Given the description of an element on the screen output the (x, y) to click on. 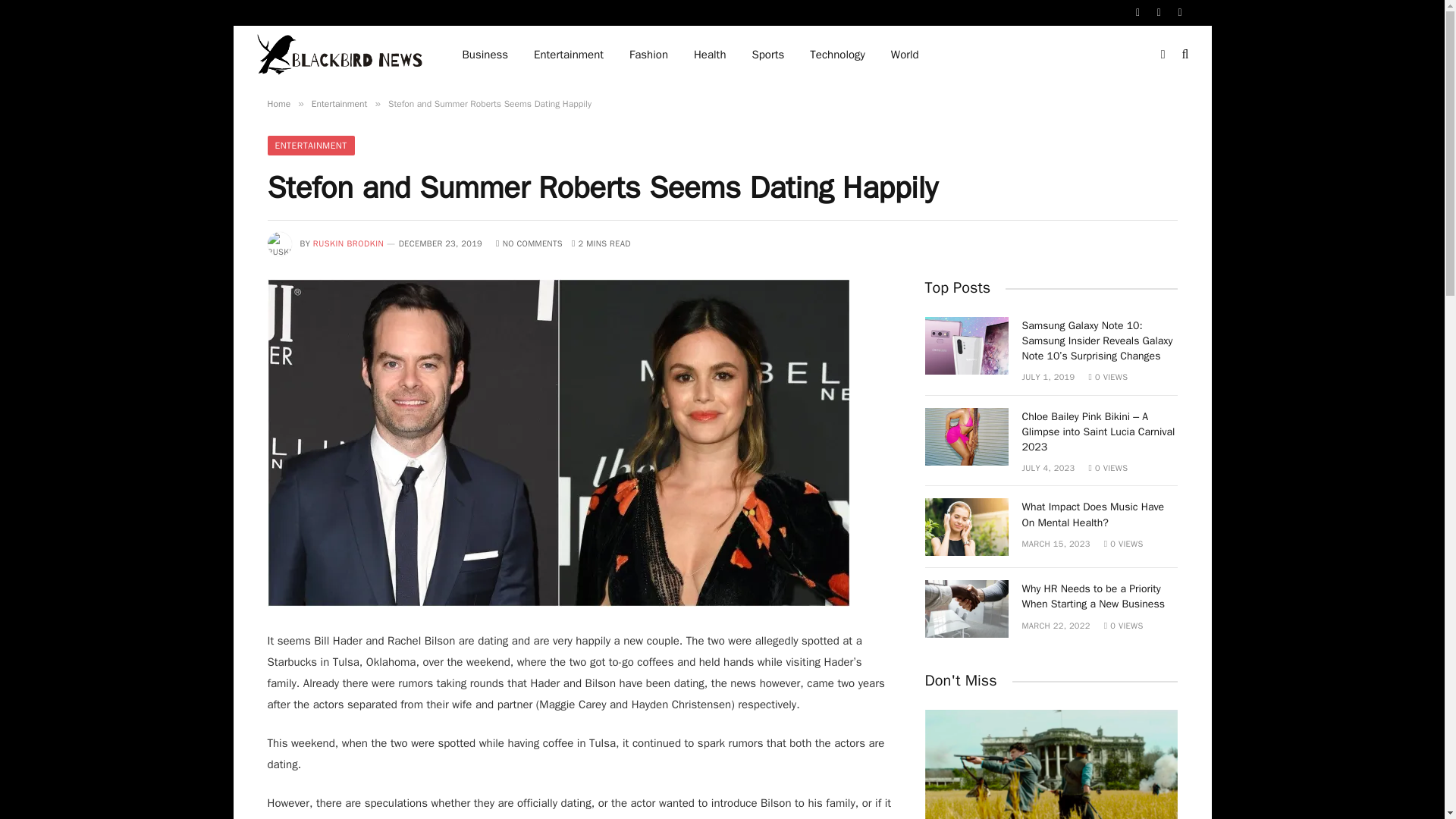
Posts by Ruskin Brodkin (348, 243)
Switch to Dark Design - easier on eyes. (1163, 54)
RUSKIN BRODKIN (348, 243)
Search (1184, 54)
ENTERTAINMENT (309, 145)
Business (485, 54)
Home (277, 103)
Entertainment (568, 54)
Entertainment (339, 103)
Instagram (1180, 12)
Blackbird News (339, 54)
Facebook (1138, 12)
NO COMMENTS (529, 243)
